Given the description of an element on the screen output the (x, y) to click on. 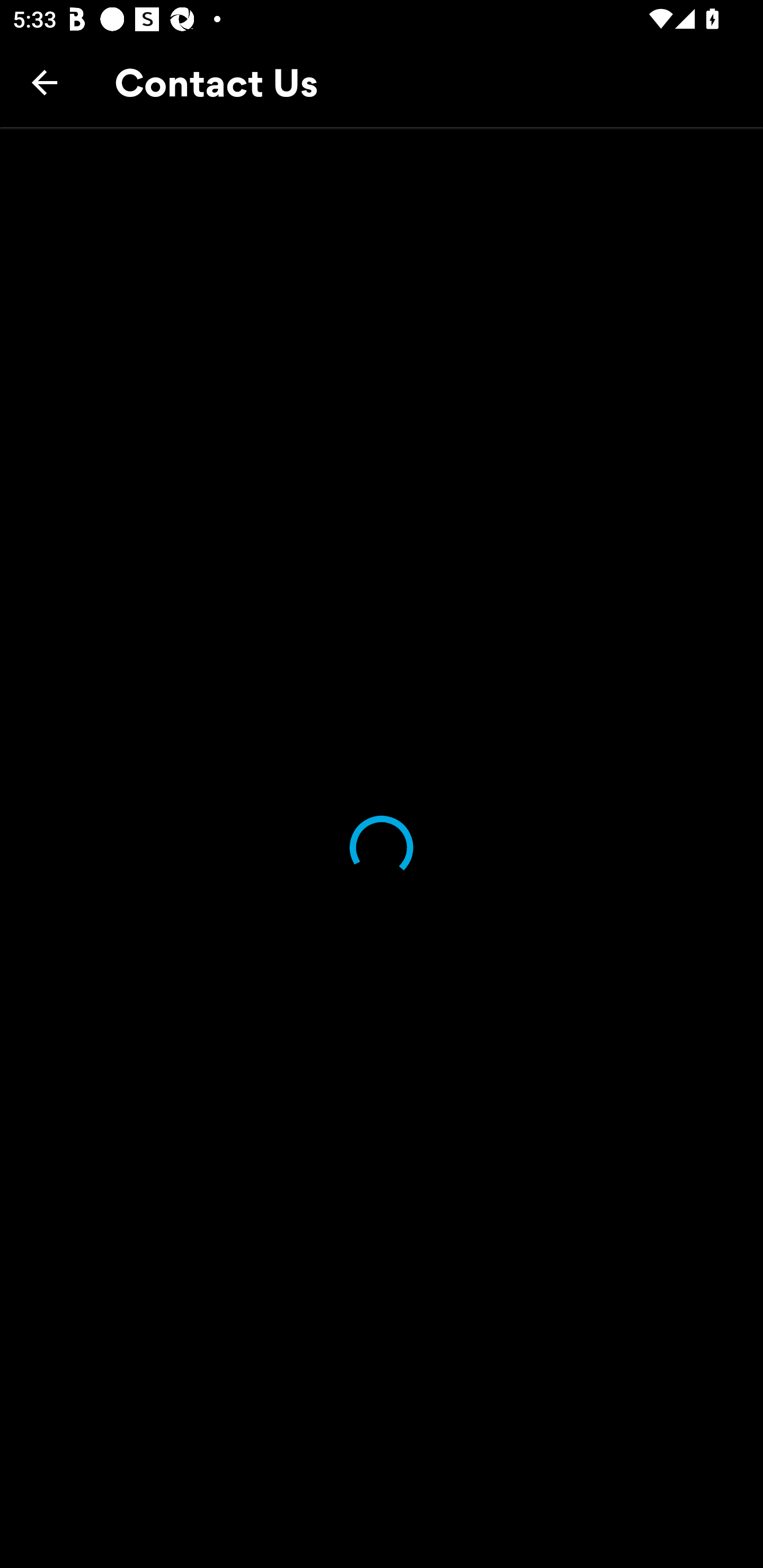
Back (44, 82)
